Given the description of an element on the screen output the (x, y) to click on. 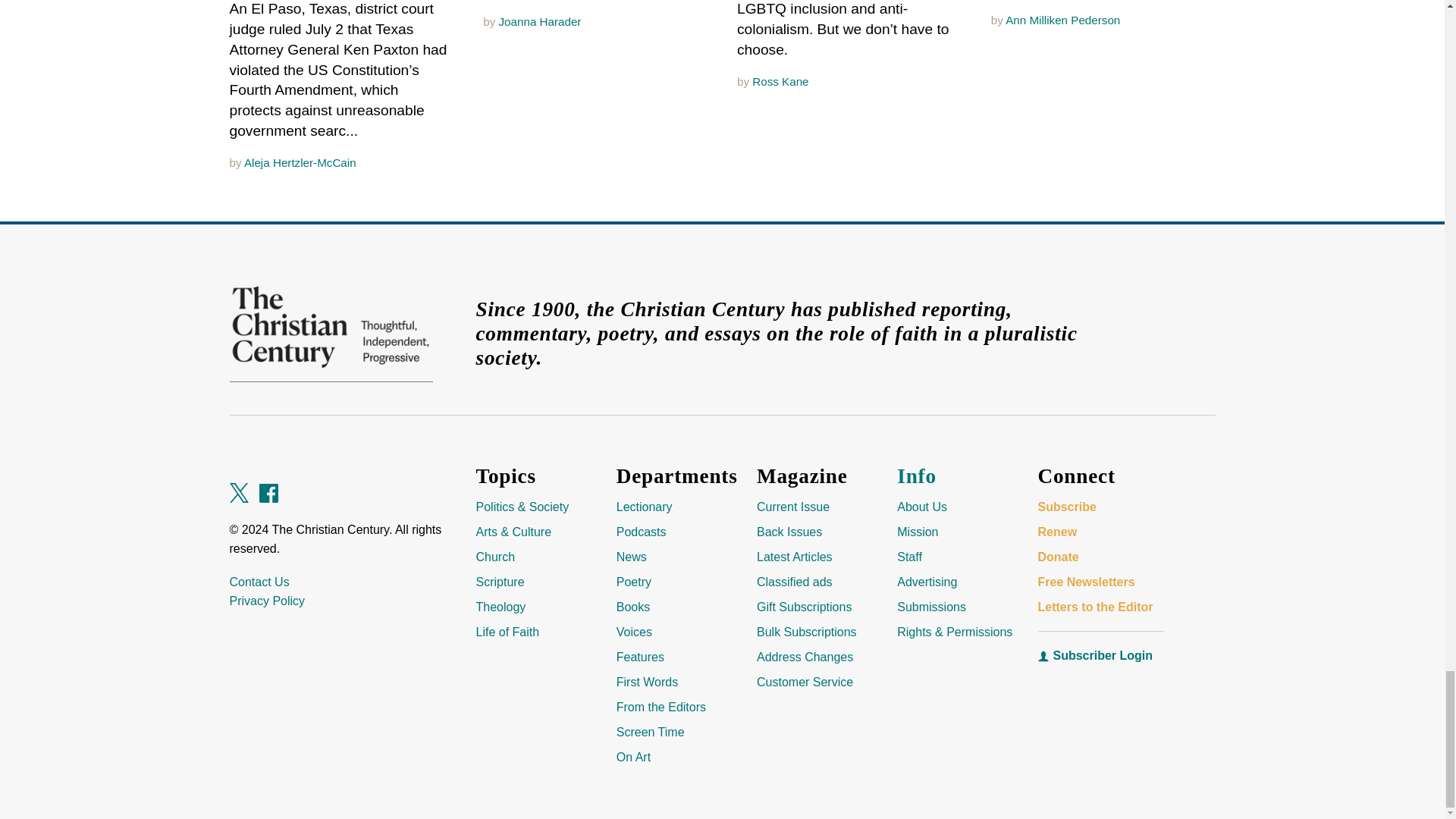
Back to homepage (330, 327)
